Given the description of an element on the screen output the (x, y) to click on. 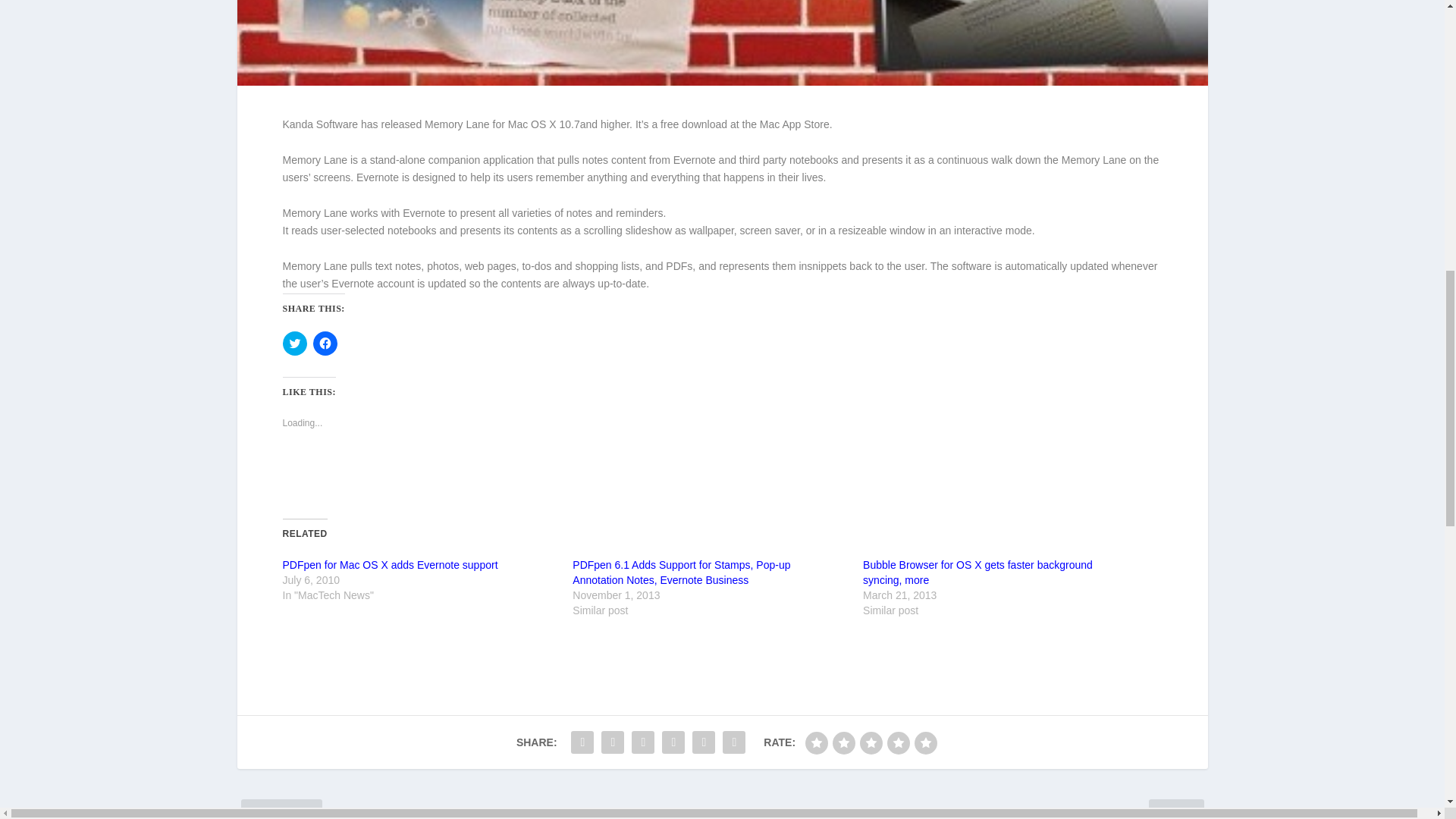
Share "Kanda releases Memory Lane for the Mac" via LinkedIn (673, 742)
PDFpen for Mac OS X adds Evernote support (389, 564)
Click to share on Facebook (324, 343)
Share "Kanda releases Memory Lane for the Mac" via Facebook (581, 742)
Bubble Browser for OS X gets faster background syncing, more (978, 572)
Like or Reblog (721, 476)
Share "Kanda releases Memory Lane for the Mac" via Twitter (611, 742)
Click to share on Twitter (293, 343)
